Given the description of an element on the screen output the (x, y) to click on. 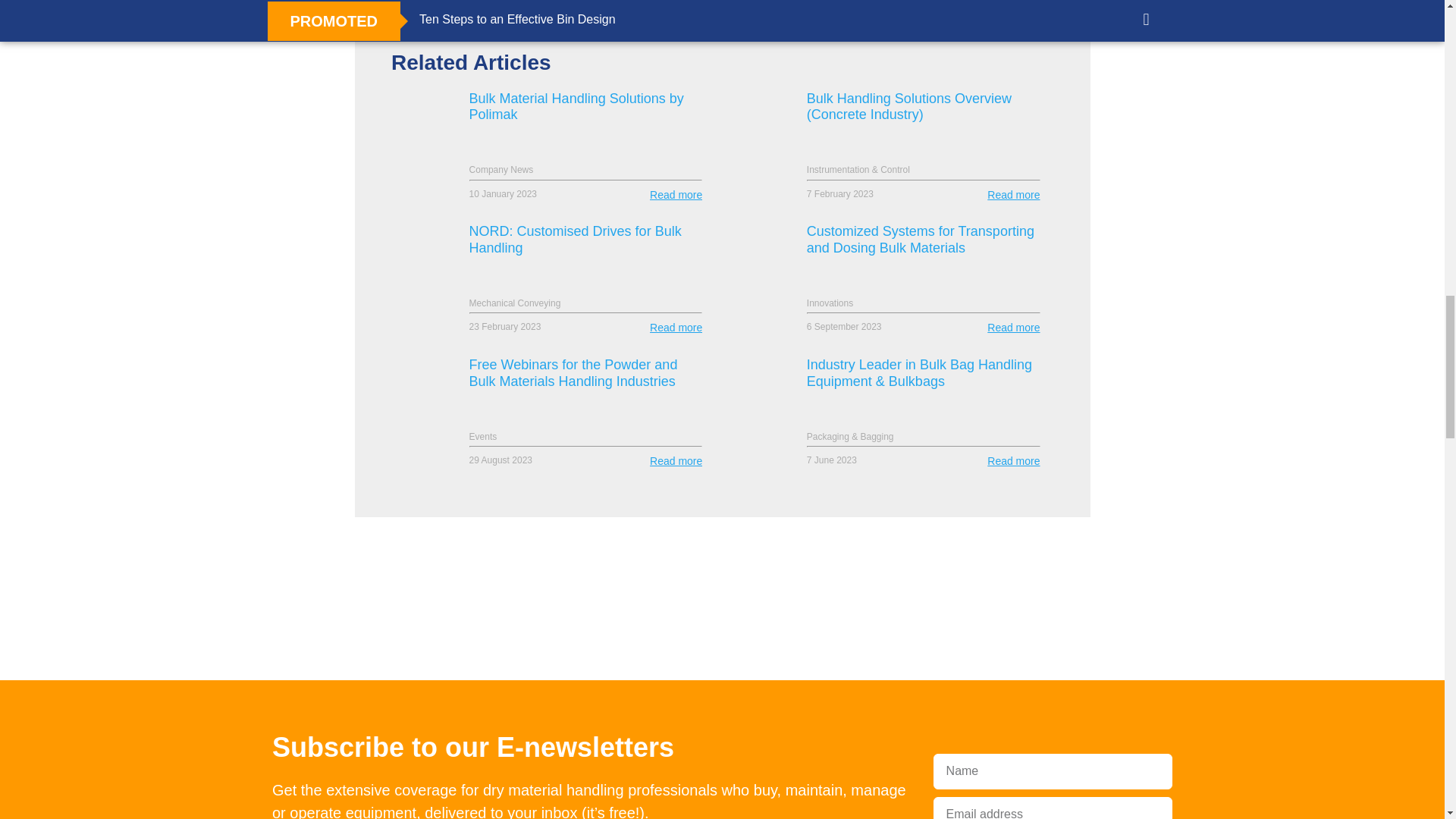
Bulk Handling and Process Engineering (468, 677)
